Given the description of an element on the screen output the (x, y) to click on. 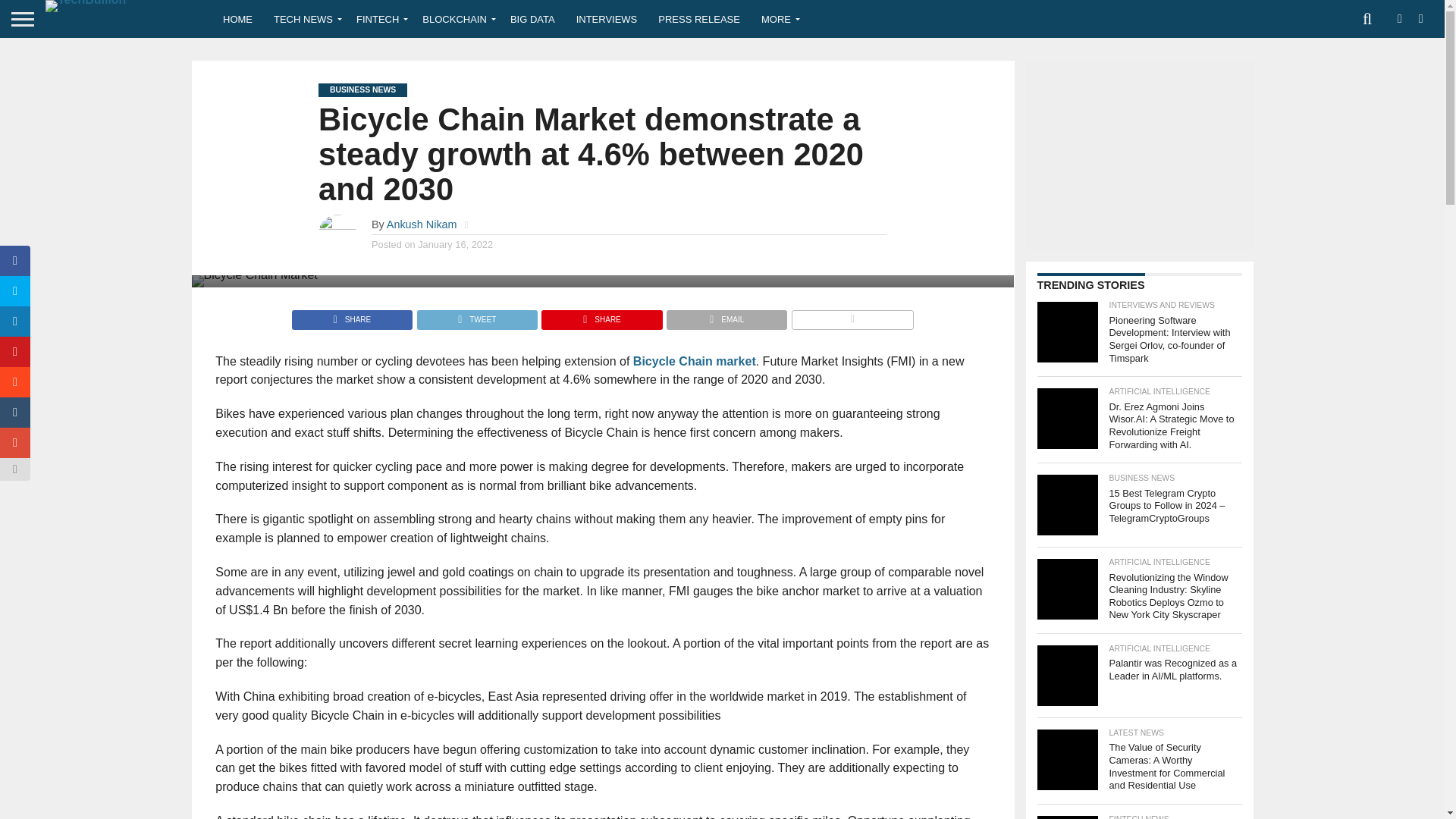
Posts by Ankush Nikam (422, 224)
Pin This Post (601, 315)
Share on Facebook (352, 315)
Tweet This Post (476, 315)
